Given the description of an element on the screen output the (x, y) to click on. 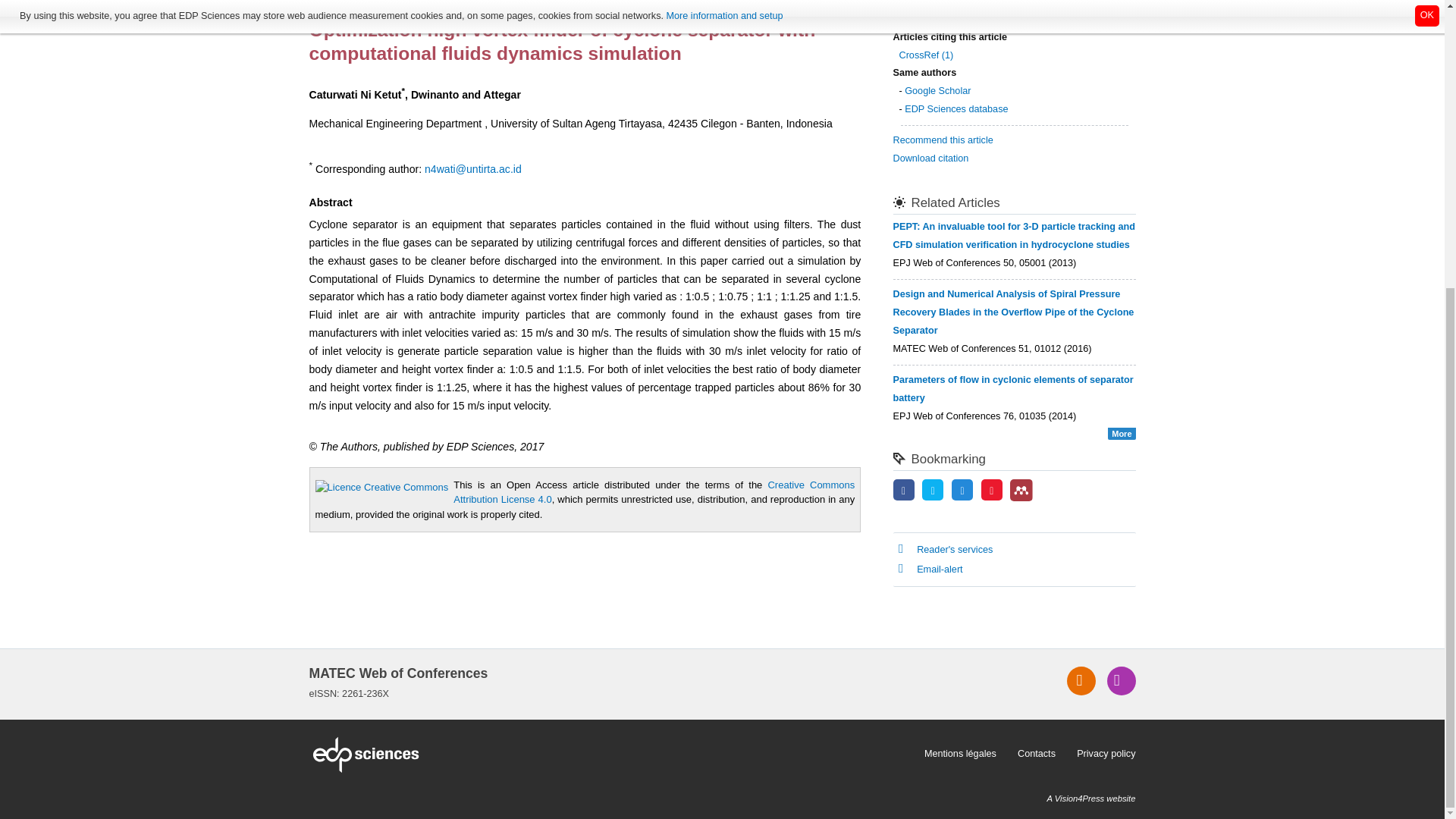
Mendeley (1021, 490)
